Given the description of an element on the screen output the (x, y) to click on. 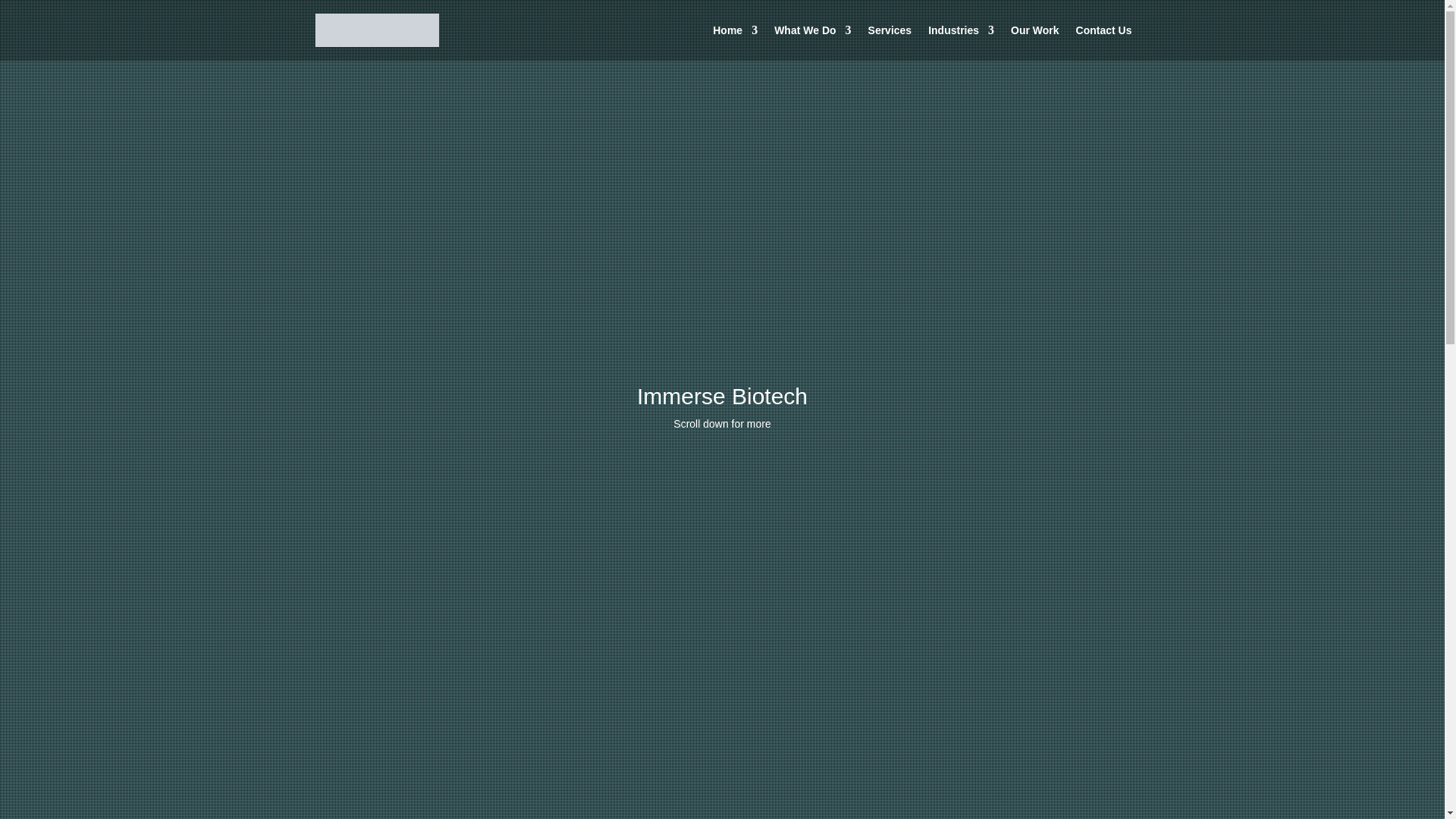
What We Do (812, 42)
Contact Us (1103, 42)
Home (735, 42)
Services (889, 42)
Our Work (1034, 42)
Industries (961, 42)
